Given the description of an element on the screen output the (x, y) to click on. 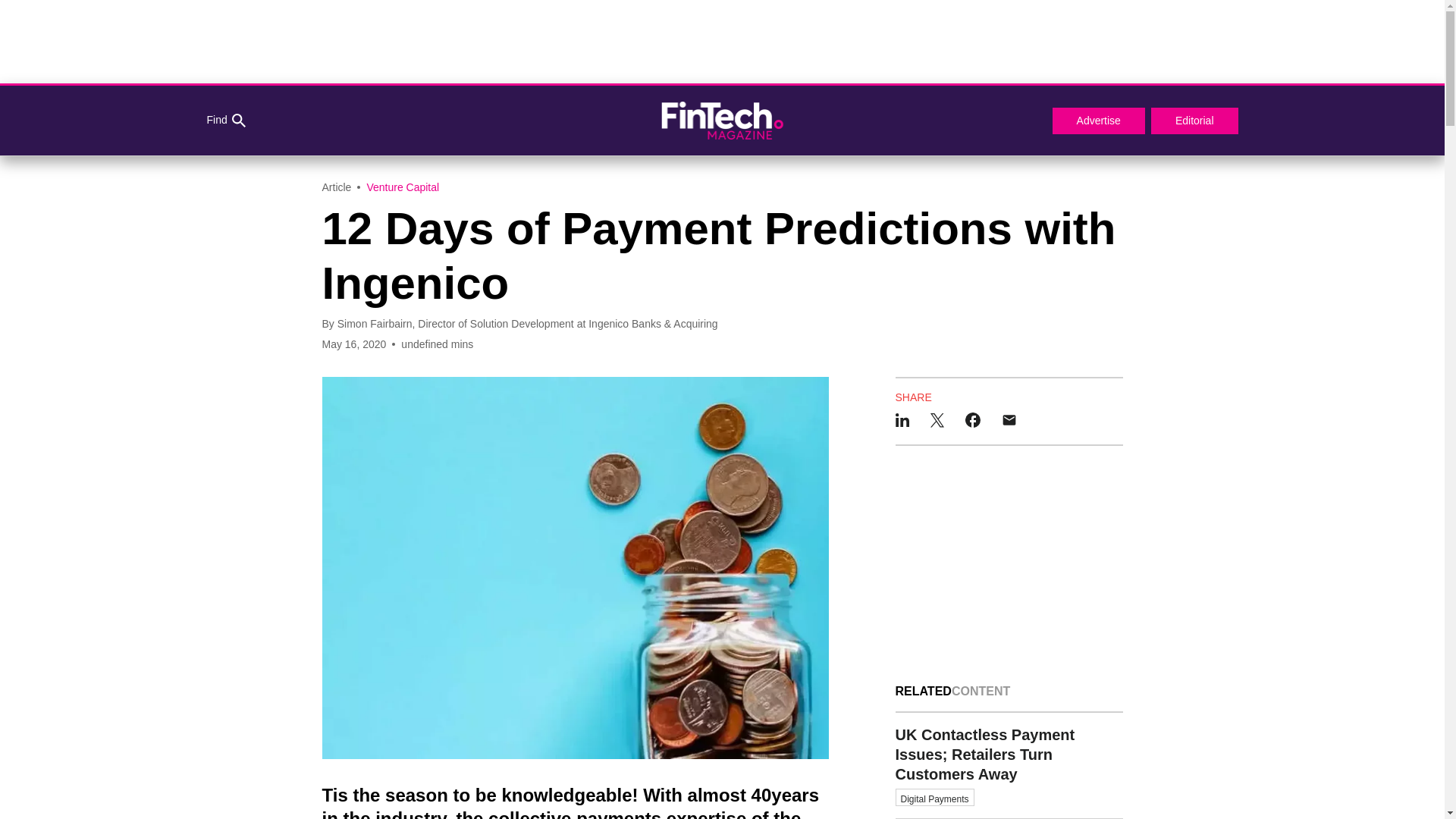
Advertise (1098, 121)
Find (225, 120)
Editorial (1195, 121)
